Given the description of an element on the screen output the (x, y) to click on. 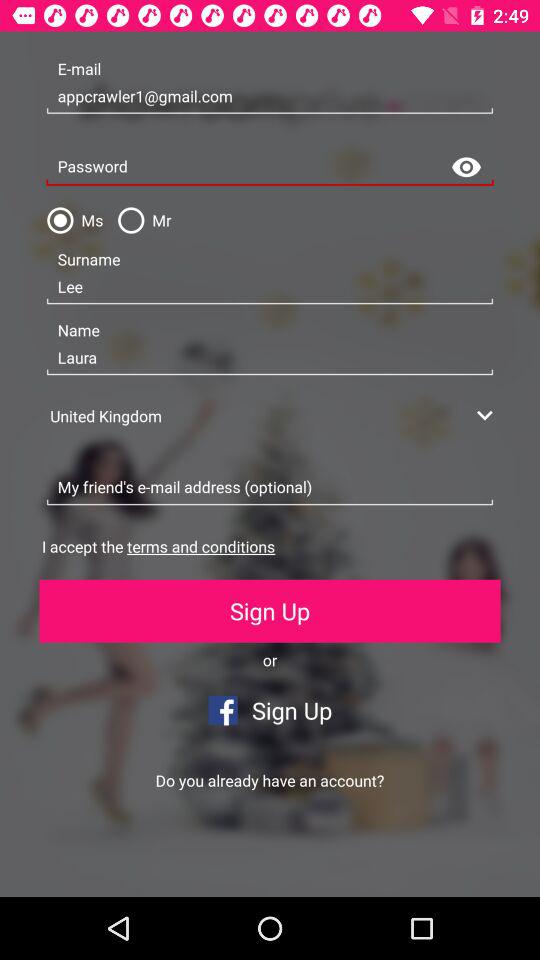
tap the lee (269, 287)
